Given the description of an element on the screen output the (x, y) to click on. 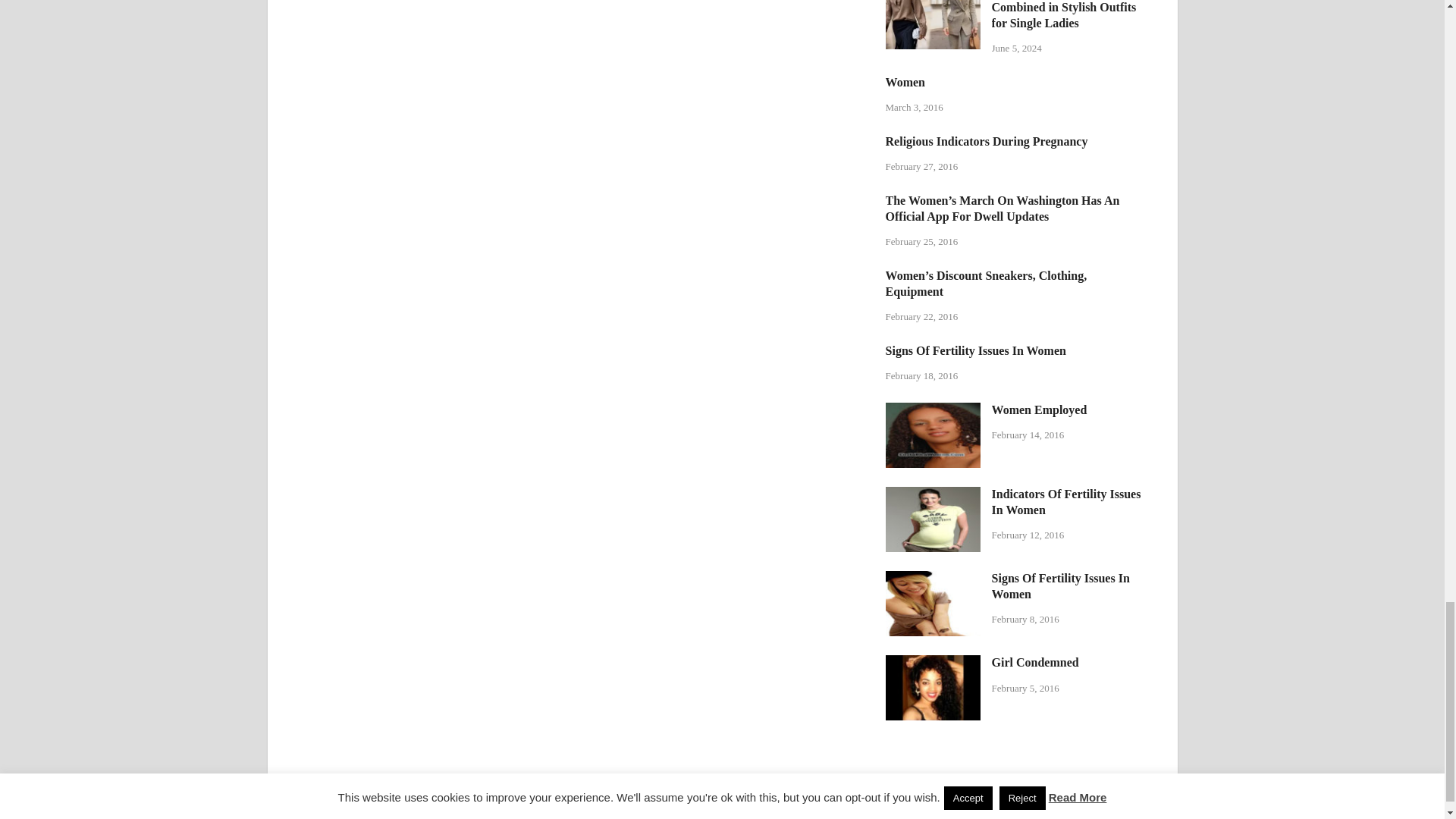
Signs Of Fertility Issues In Women (932, 579)
Indicators Of Fertility Issues In Women (932, 495)
Girl Condemned (932, 663)
Women Employed (932, 410)
